Given the description of an element on the screen output the (x, y) to click on. 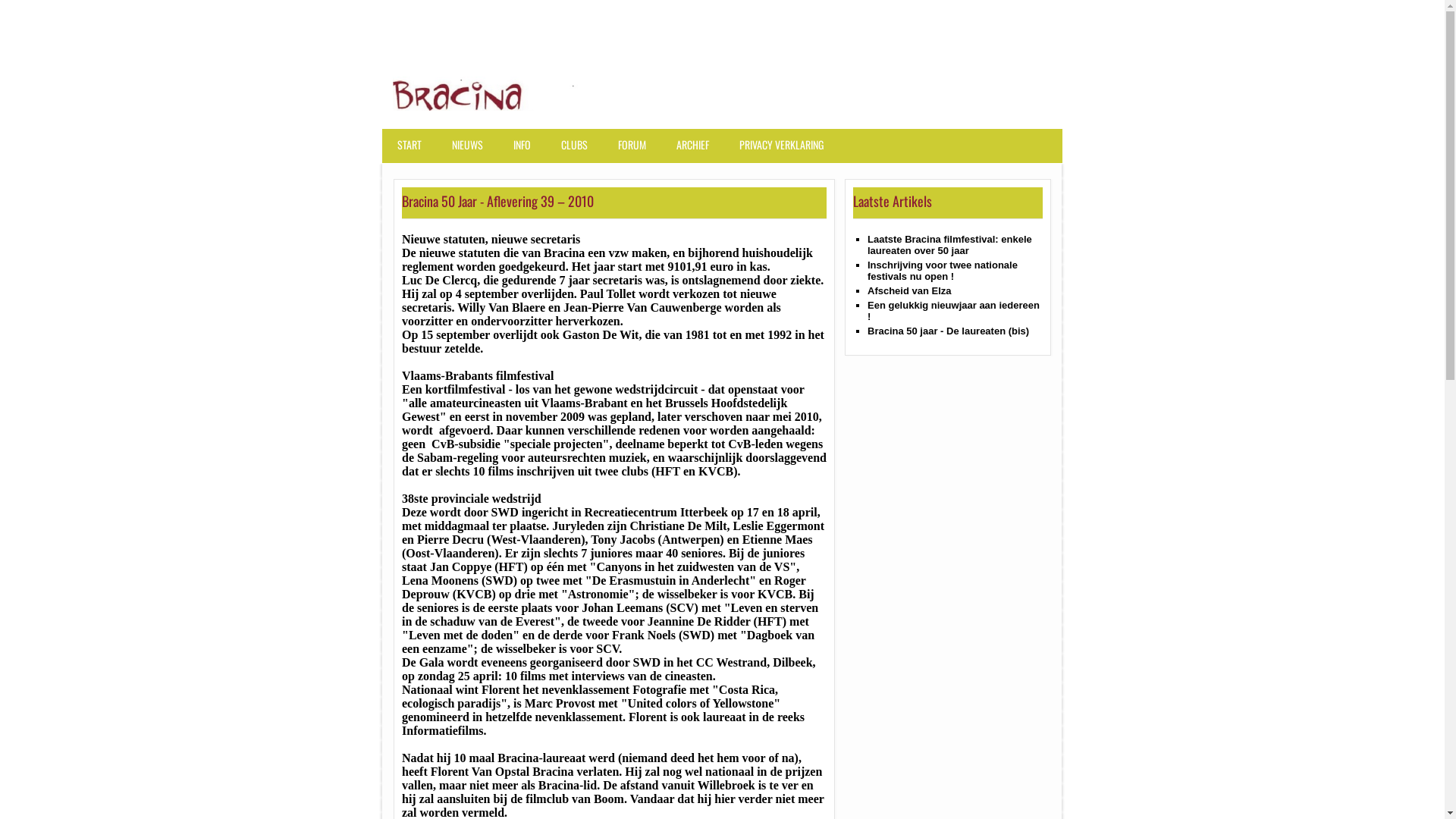
Laatste Bracina filmfestival: enkele laureaten over 50 jaar Element type: text (949, 244)
Bracina 50 jaar - De laureaten (bis) Element type: text (948, 330)
Een gelukkig nieuwjaar aan iedereen ! Element type: text (953, 310)
ARCHIEF Element type: text (696, 151)
Afscheid van Elza Element type: text (909, 290)
INFO Element type: text (525, 151)
NIEUWS Element type: text (470, 151)
FORUM Element type: text (635, 151)
CLUBS Element type: text (578, 151)
PRIVACY VERKLARING Element type: text (785, 151)
START Element type: text (413, 151)
Inschrijving voor twee nationale festivals nu open ! Element type: text (942, 270)
